Given the description of an element on the screen output the (x, y) to click on. 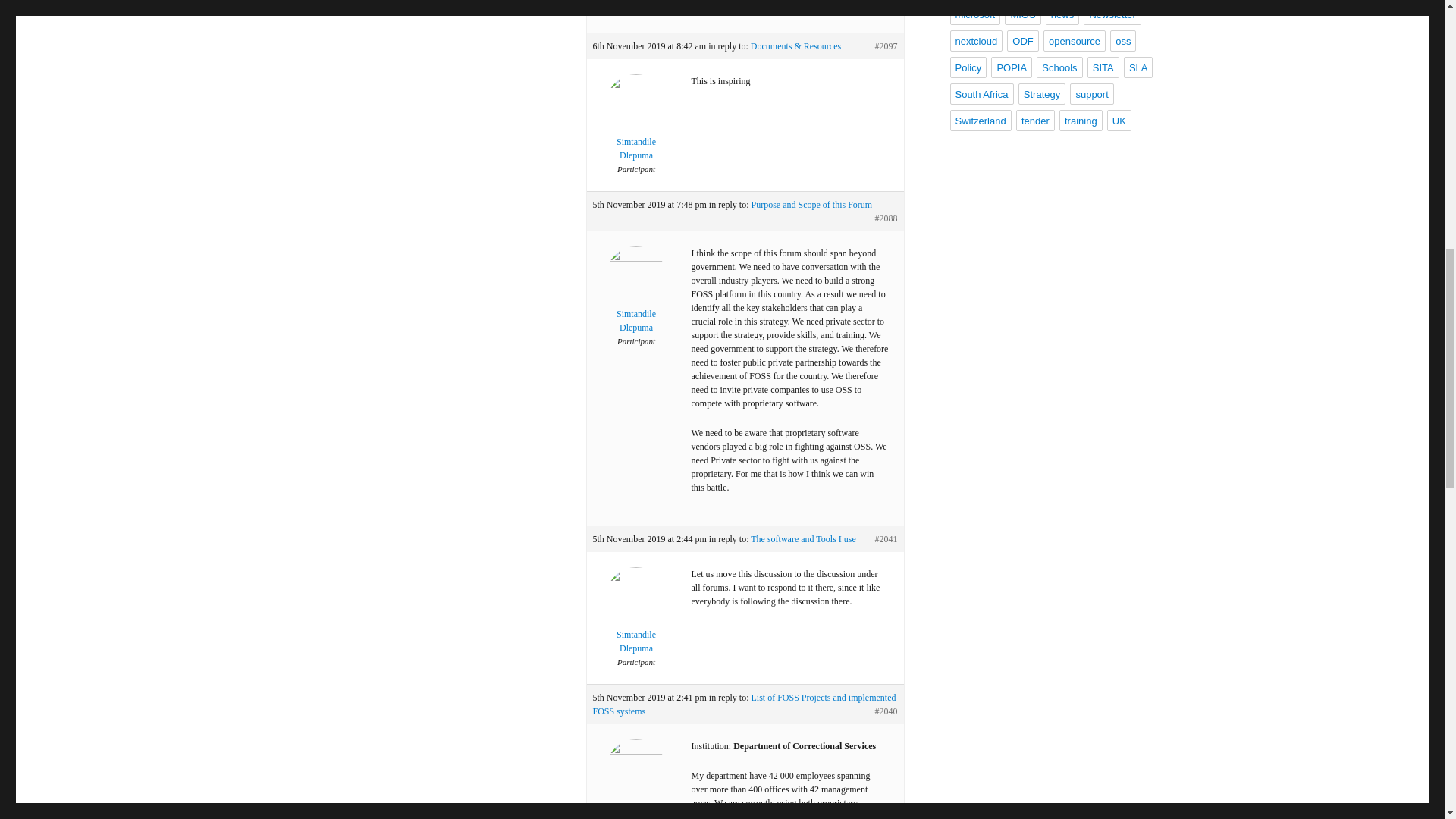
View Simtandile Dlepuma's profile (635, 789)
View Simtandile Dlepuma's profile (635, 621)
View Simtandile Dlepuma's profile (635, 128)
View Simtandile Dlepuma's profile (635, 300)
